Given the description of an element on the screen output the (x, y) to click on. 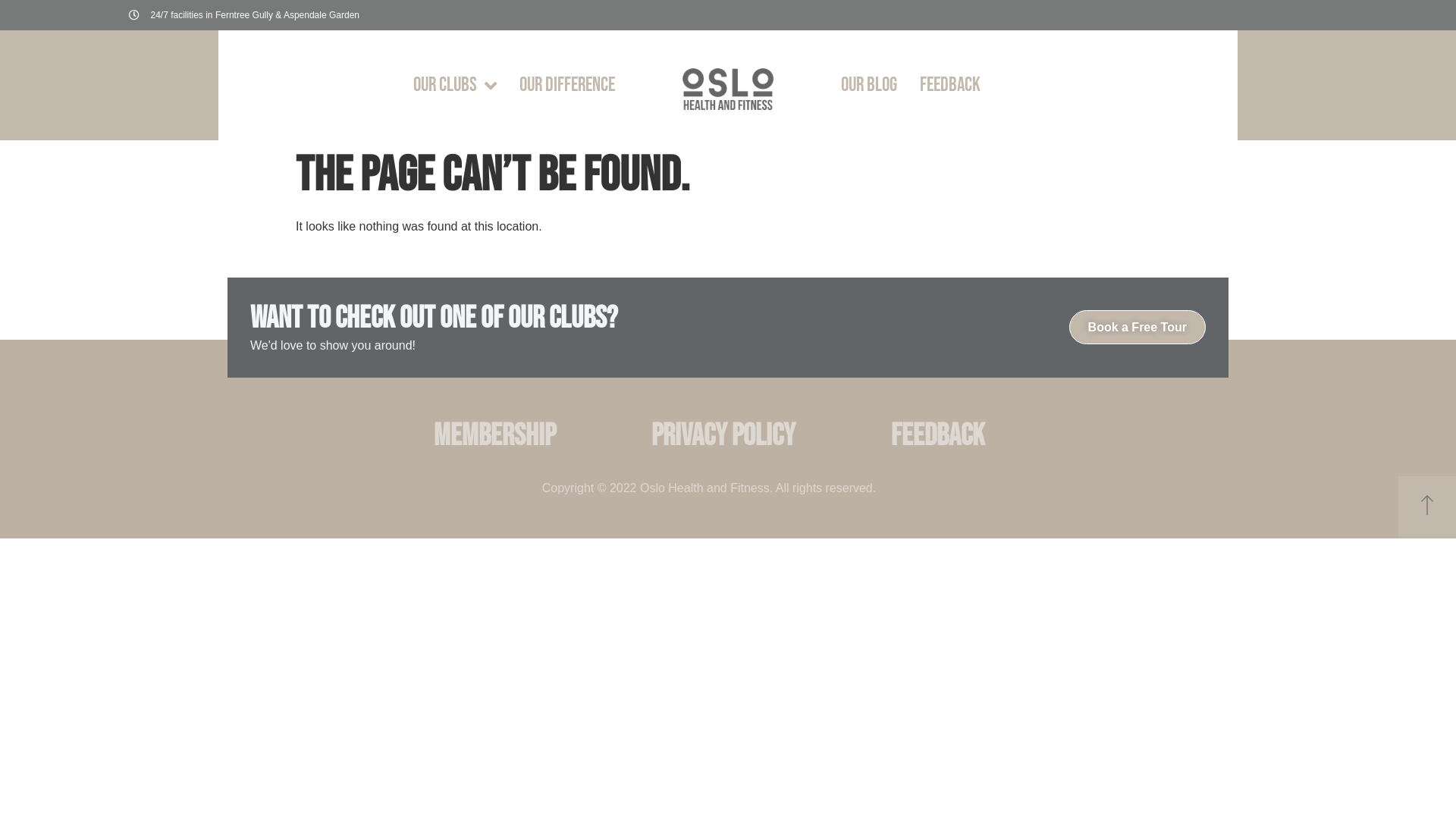
Our Difference Element type: text (567, 85)
Book a Free Tour Element type: text (1137, 327)
Our Blog Element type: text (868, 85)
Feedback Element type: text (937, 435)
Our Clubs Element type: text (454, 85)
Membership Element type: text (493, 435)
Privacy Policy Element type: text (722, 435)
Feedback Element type: text (949, 85)
